Given the description of an element on the screen output the (x, y) to click on. 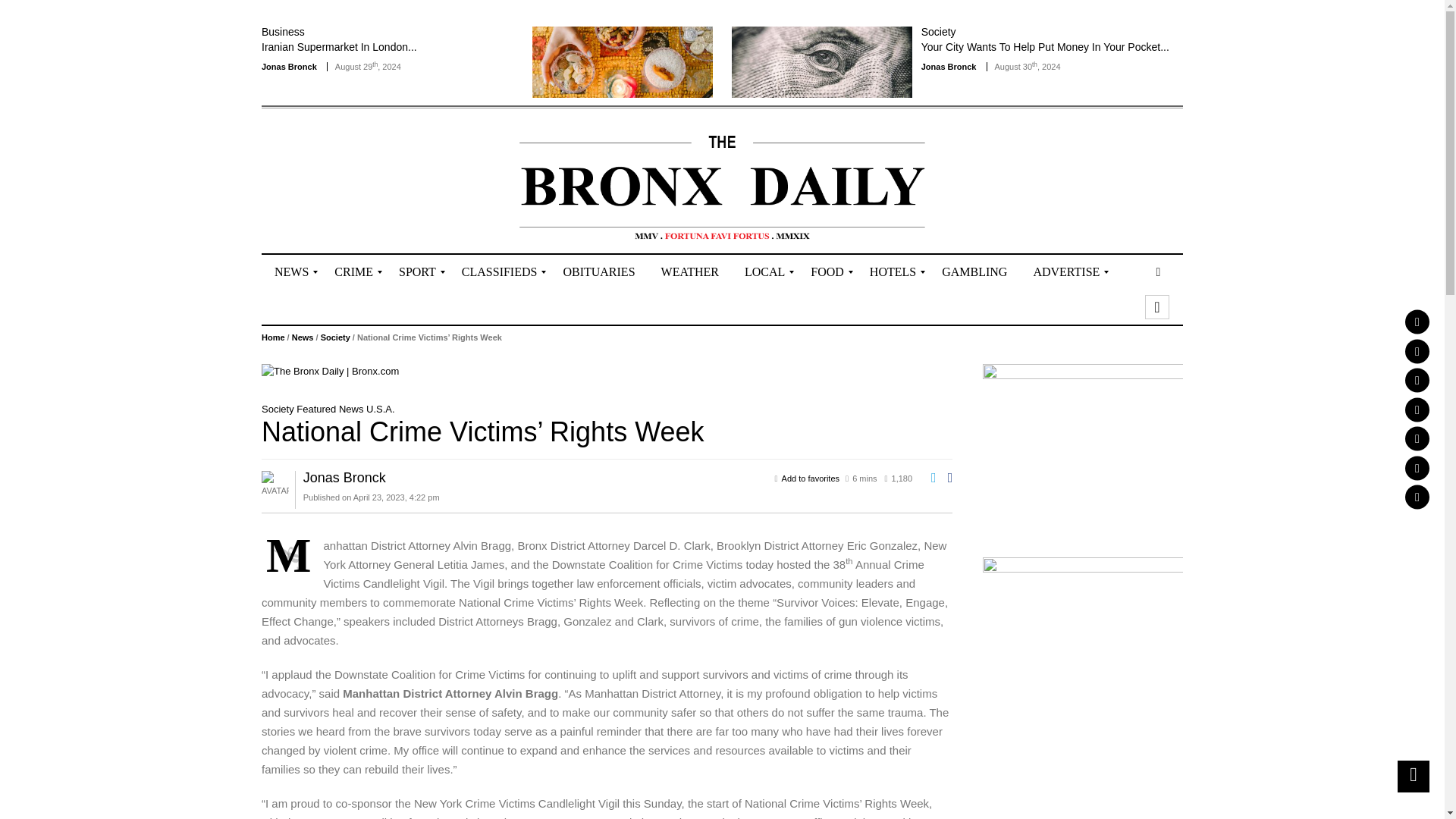
Iranian Supermarket In London (622, 60)
Add to favorites (810, 478)
Your City Wants To Help Put Money In Your Pocket (822, 60)
Iranian Supermarket In London (339, 46)
View all posts in Society (938, 31)
NEWS (291, 271)
View all posts in Business (283, 31)
Society (938, 31)
Posts by Jonas Bronck (948, 66)
Iranian Supermarket In London... (339, 46)
